Given the description of an element on the screen output the (x, y) to click on. 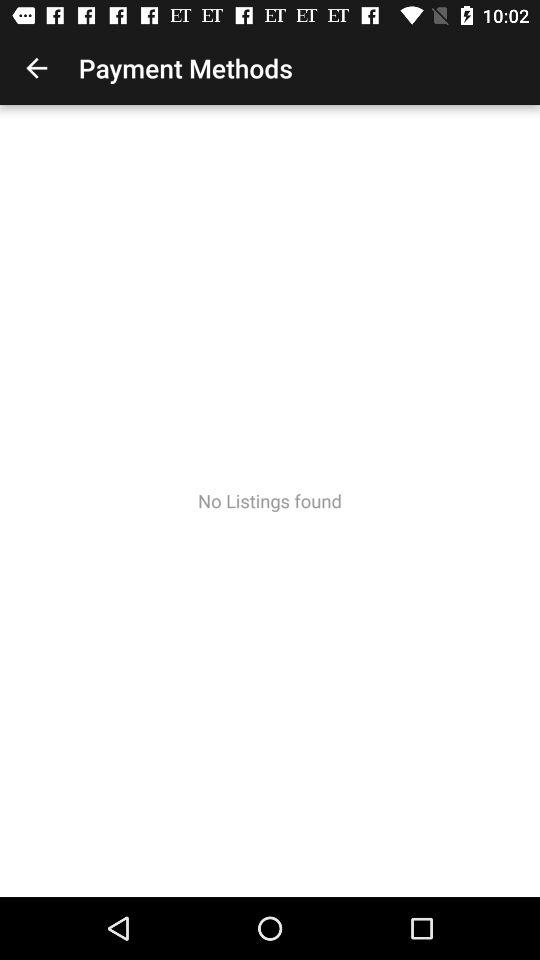
click the item to the left of payment methods (36, 68)
